Given the description of an element on the screen output the (x, y) to click on. 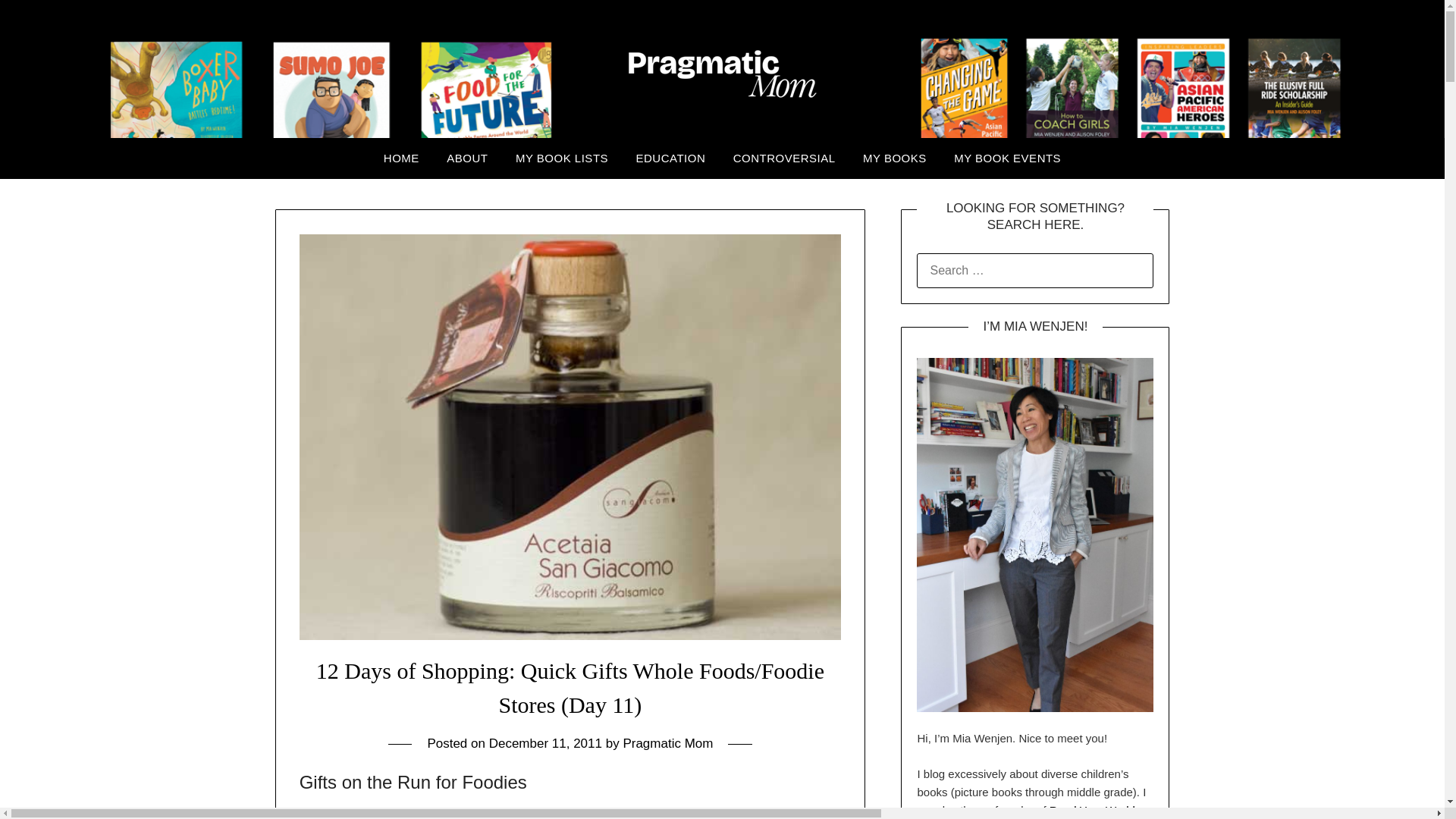
CONTROVERSIAL (783, 158)
MY BOOK LISTS (561, 158)
EDUCATION (670, 158)
HOME (400, 158)
ABOUT (466, 158)
